Given the description of an element on the screen output the (x, y) to click on. 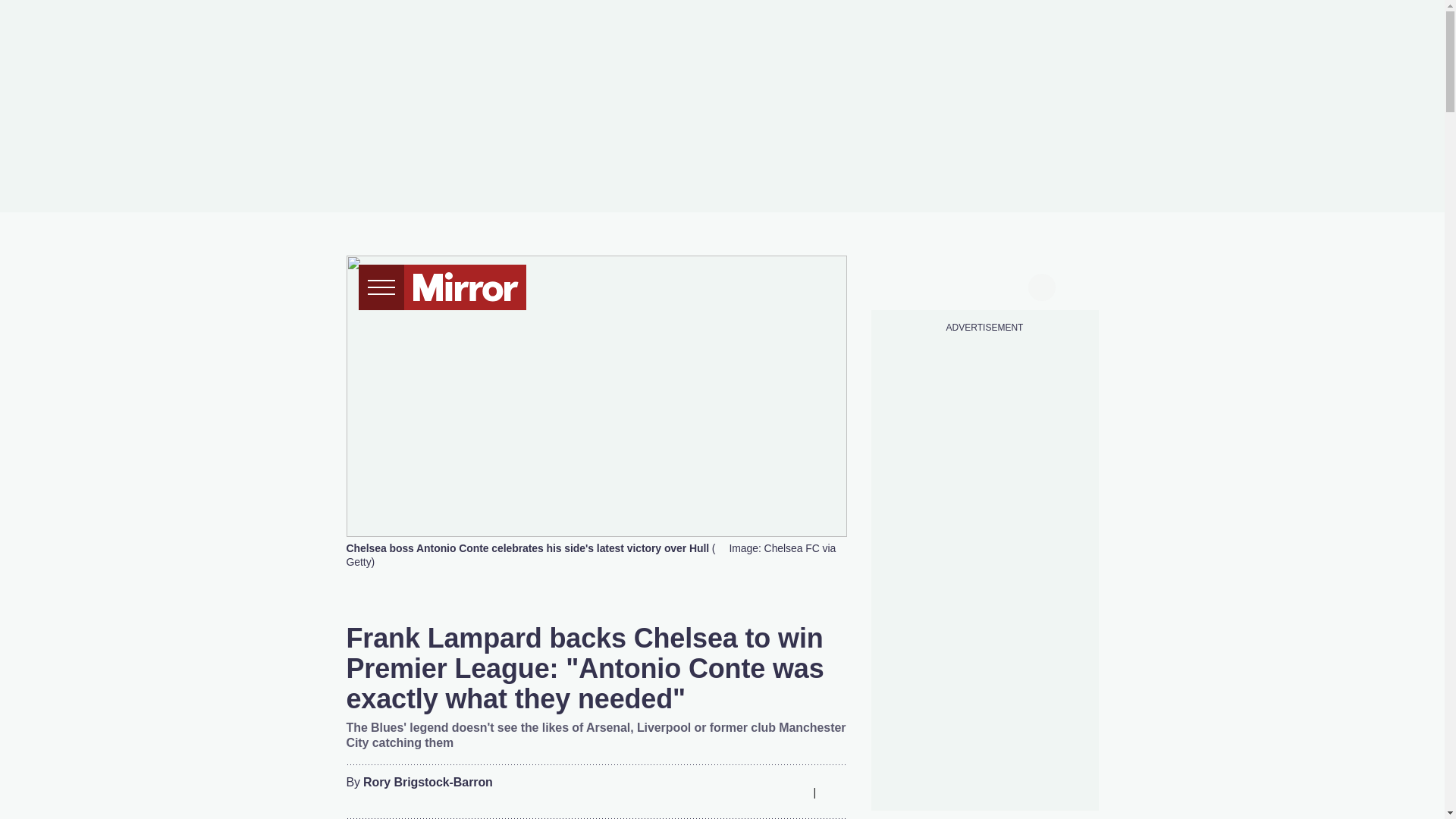
tiktok (955, 285)
Whatsapp (763, 792)
Twitter (733, 792)
Facebook (702, 792)
Comments (834, 792)
facebook (897, 285)
instagram (984, 285)
twitter (926, 285)
snapchat (1012, 285)
